Given the description of an element on the screen output the (x, y) to click on. 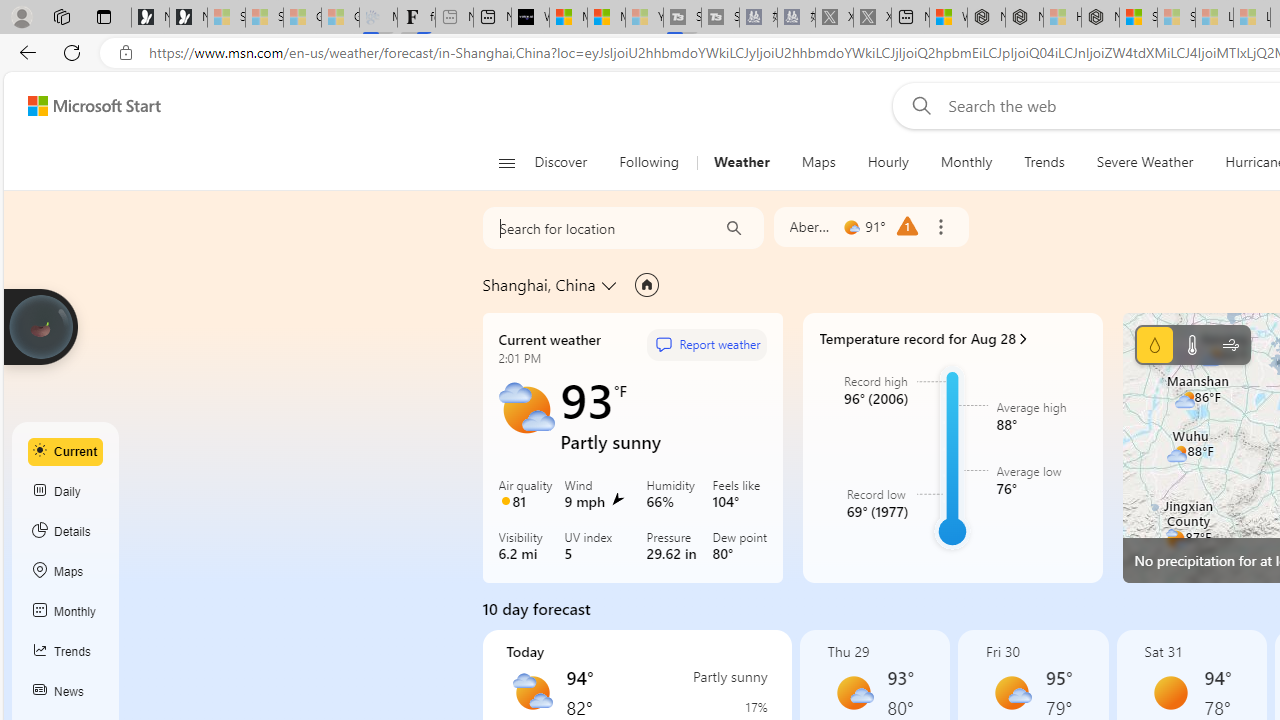
Details (65, 531)
Temperature record for Aug 28 (952, 339)
Maps (818, 162)
Wind (1230, 344)
Open navigation menu (506, 162)
